Given the description of an element on the screen output the (x, y) to click on. 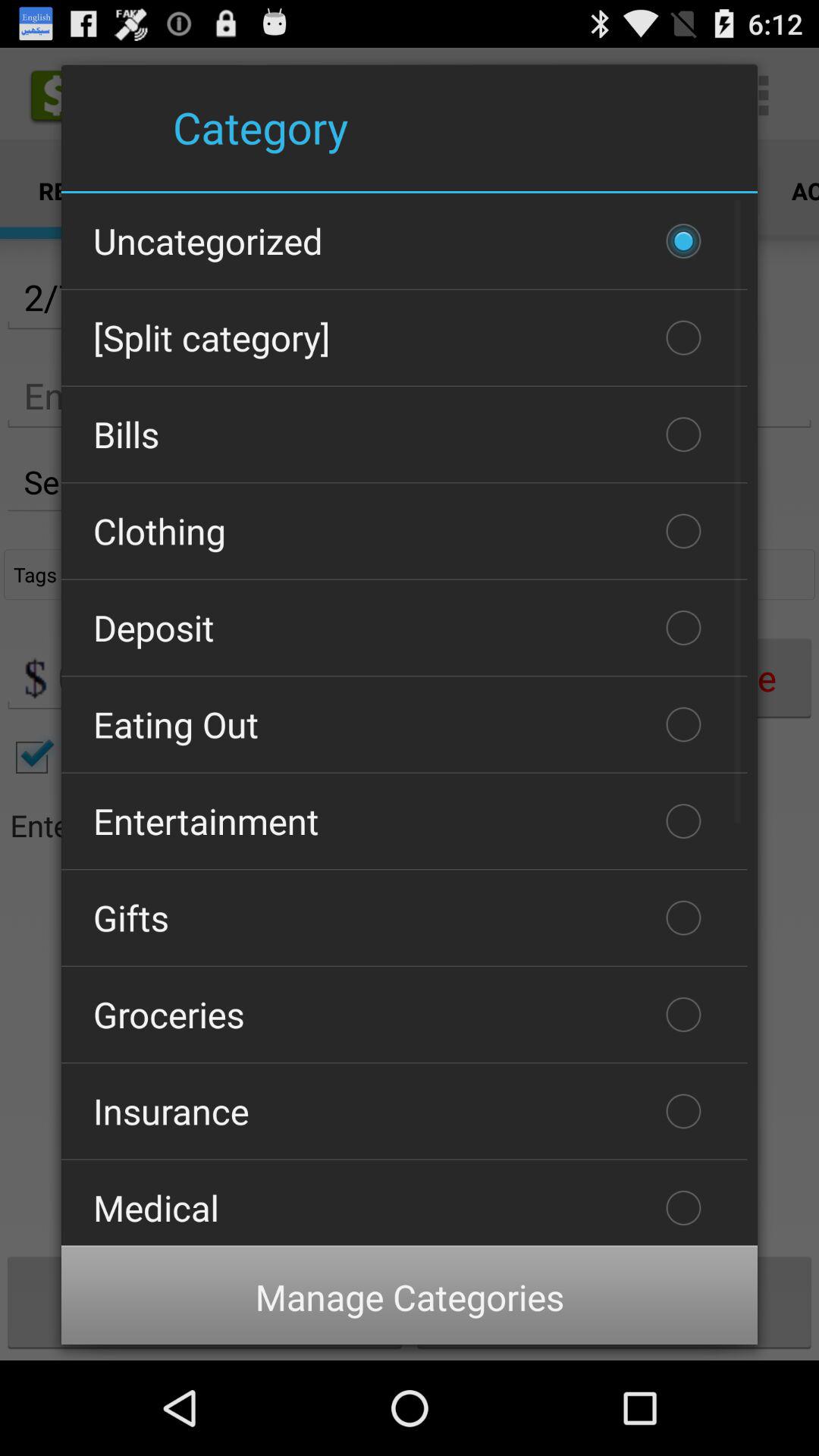
tap the icon above medical checkbox (404, 1111)
